Given the description of an element on the screen output the (x, y) to click on. 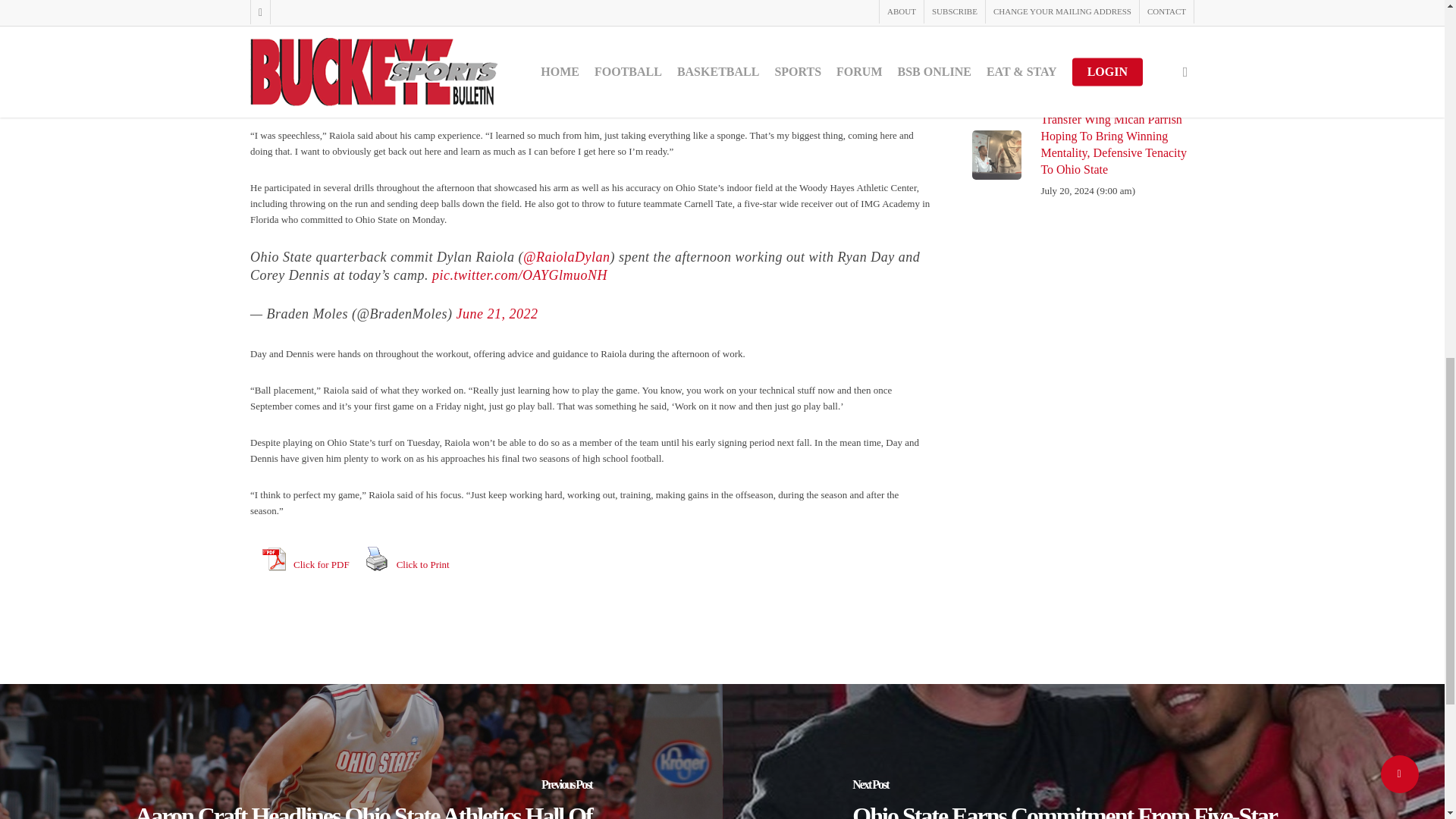
Print Content (377, 558)
View PDF (273, 558)
